Given the description of an element on the screen output the (x, y) to click on. 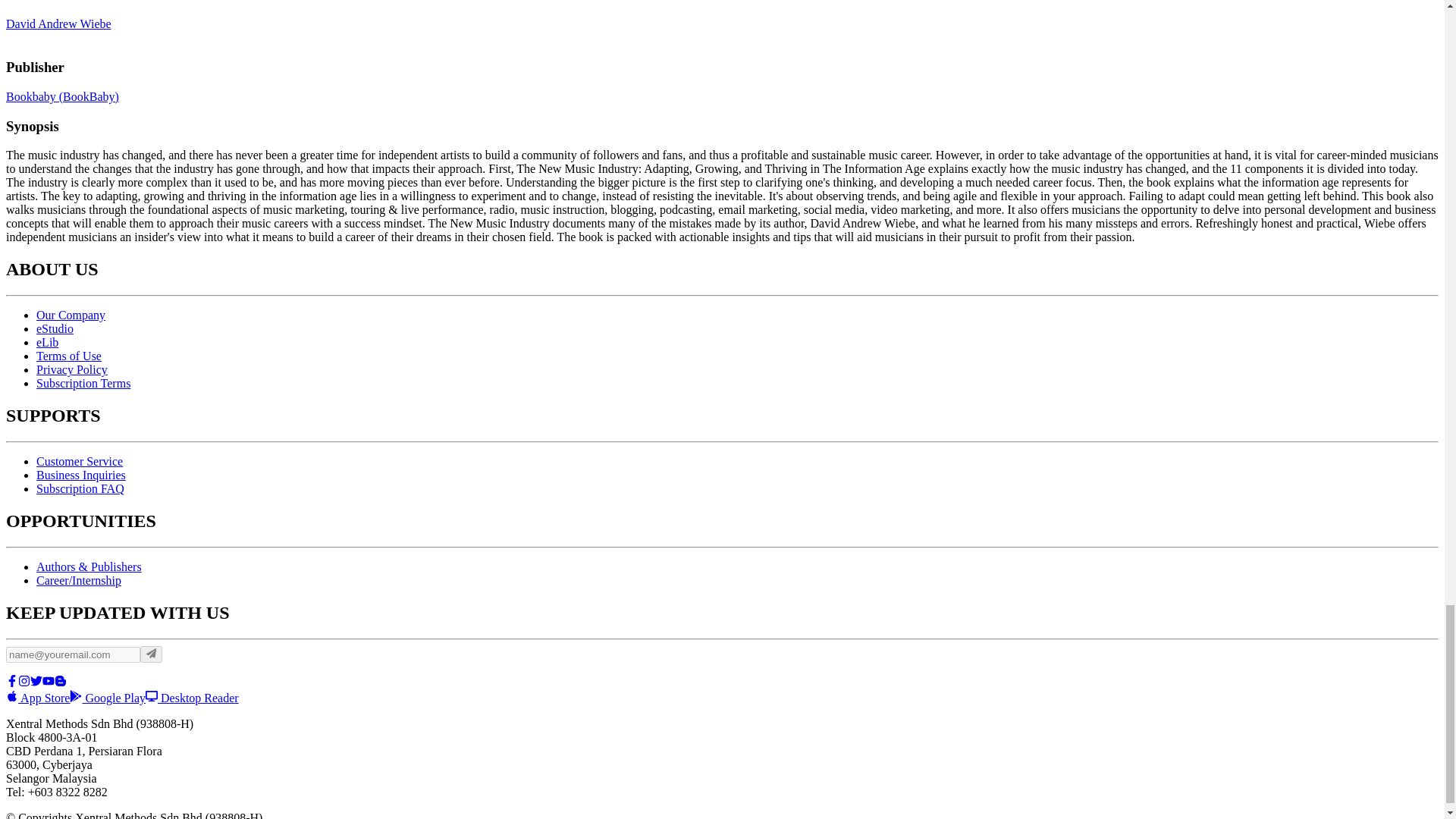
Google Play (107, 697)
Business Inquiries (80, 474)
App Store (37, 697)
eStudio (55, 328)
Terms of Use (68, 355)
Our Company (70, 314)
Customer Service (79, 461)
David Andrew Wiebe (58, 23)
Subscription FAQ (79, 488)
Subscription Terms (83, 382)
